Given the description of an element on the screen output the (x, y) to click on. 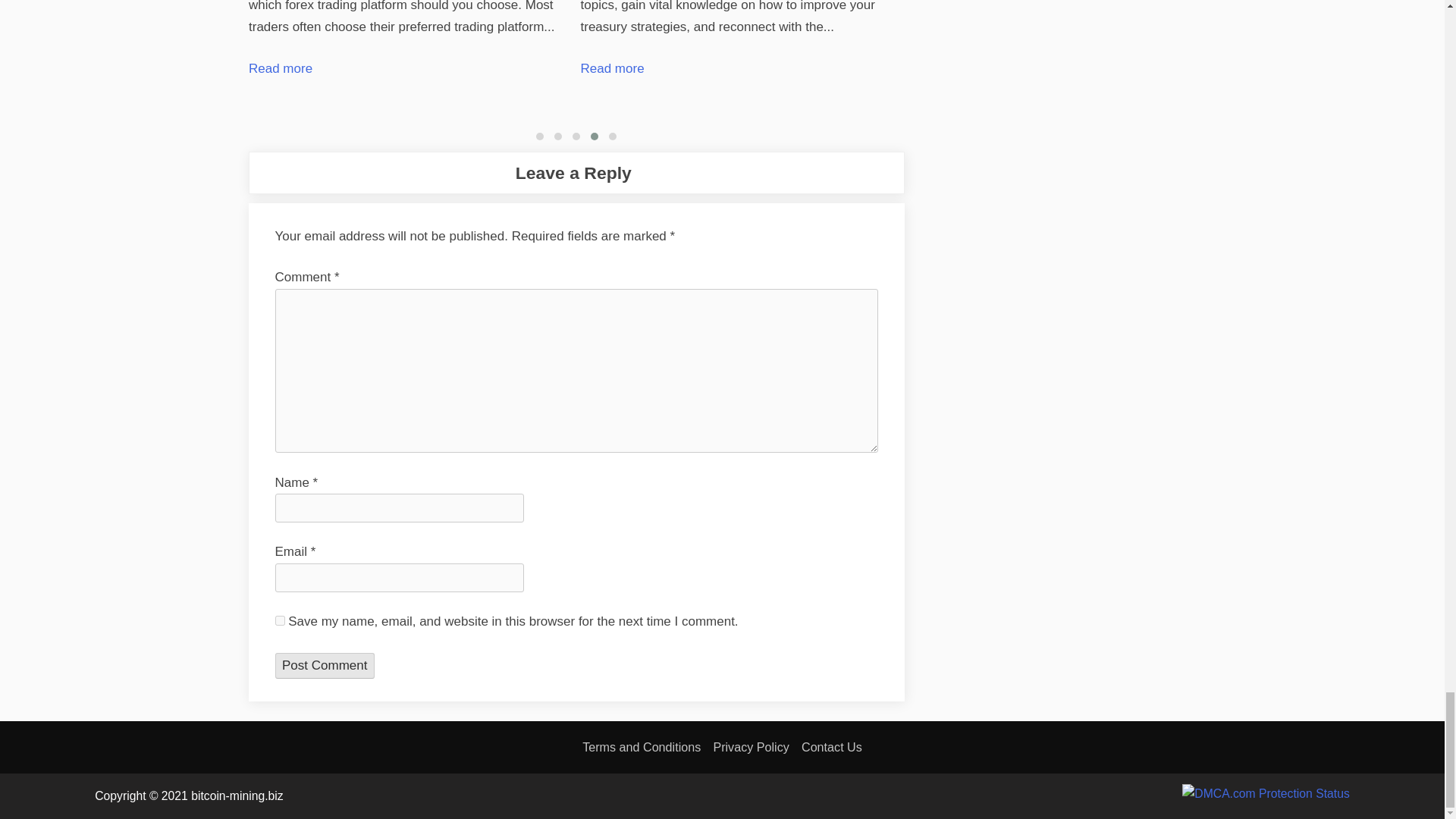
Post Comment (324, 665)
yes (279, 620)
